Given the description of an element on the screen output the (x, y) to click on. 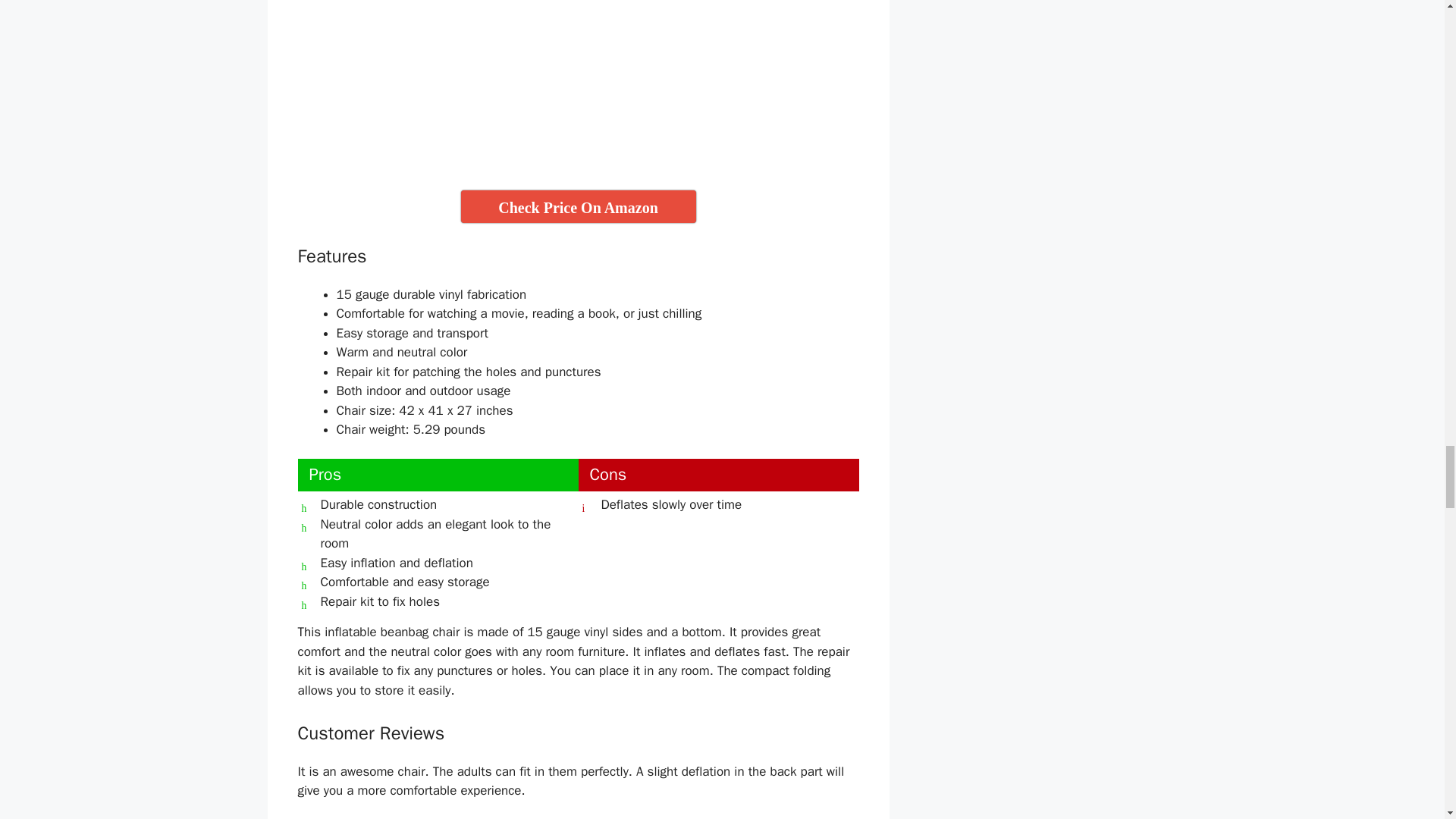
Check Price On Amazon (578, 206)
